Given the description of an element on the screen output the (x, y) to click on. 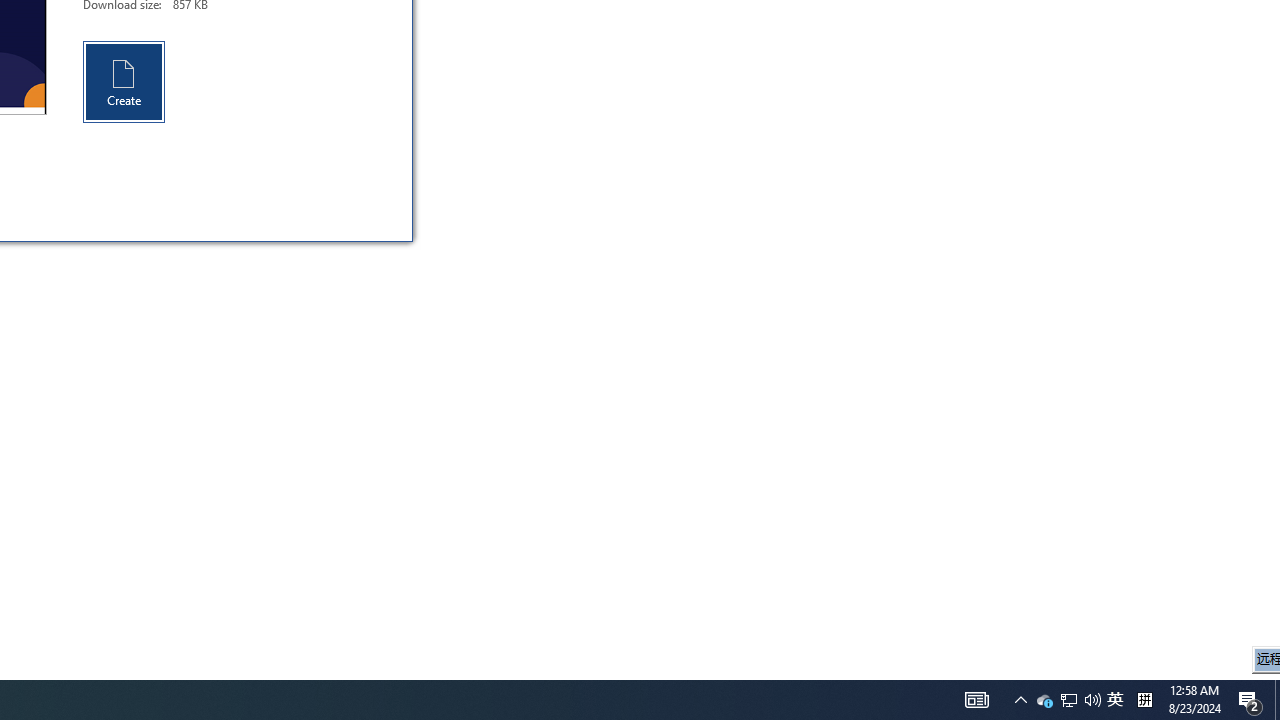
Tray Input Indicator - Chinese (Simplified, China) (1144, 699)
Create (1044, 699)
User Promoted Notification Area (124, 82)
Action Center, 2 new notifications (1068, 699)
Notification Chevron (1069, 699)
Show desktop (1250, 699)
AutomationID: 4105 (1115, 699)
Q2790: 100% (1020, 699)
